Given the description of an element on the screen output the (x, y) to click on. 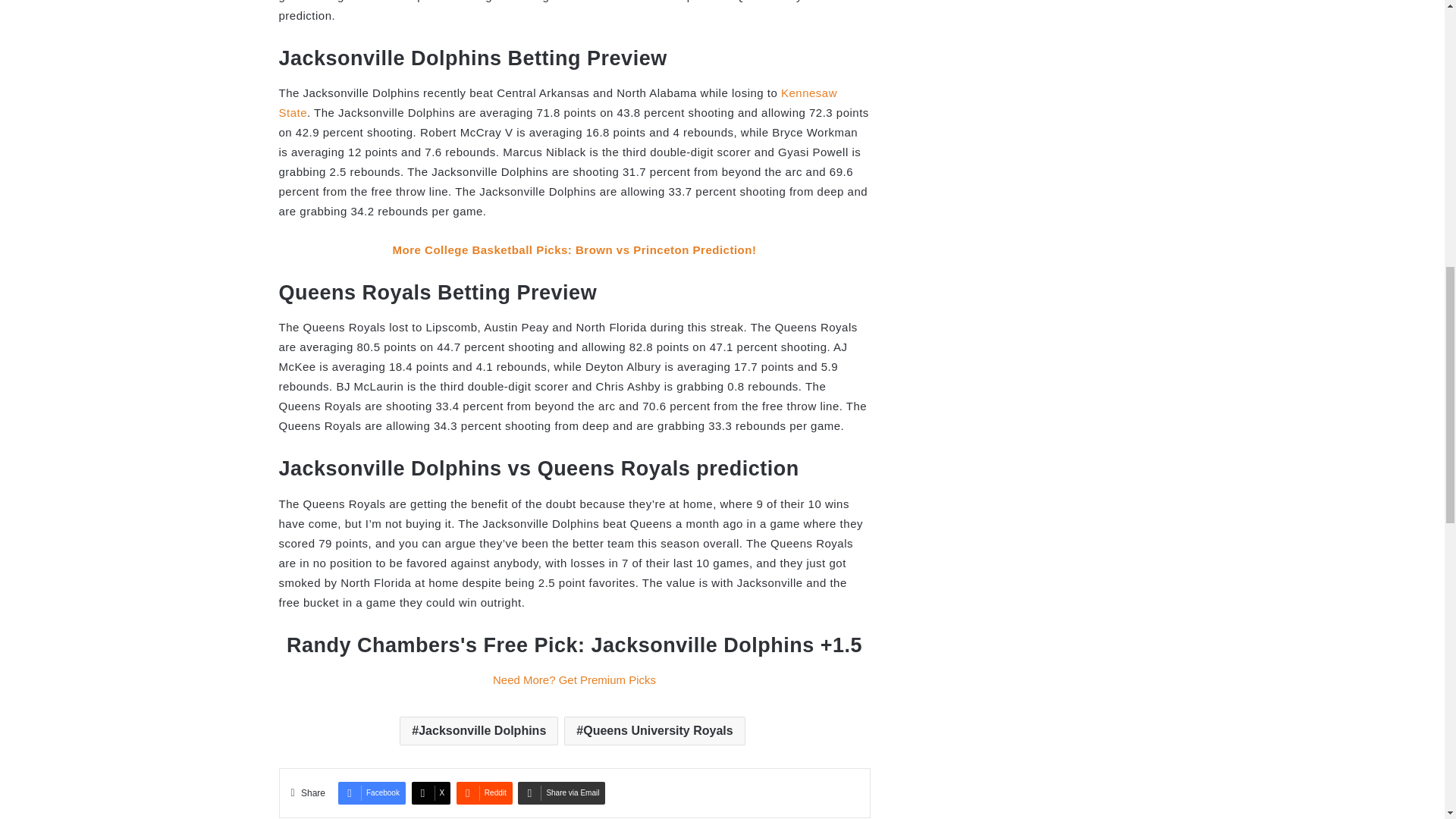
Reddit (484, 793)
X (431, 793)
Share via Email (561, 793)
Facebook (371, 793)
